Given the description of an element on the screen output the (x, y) to click on. 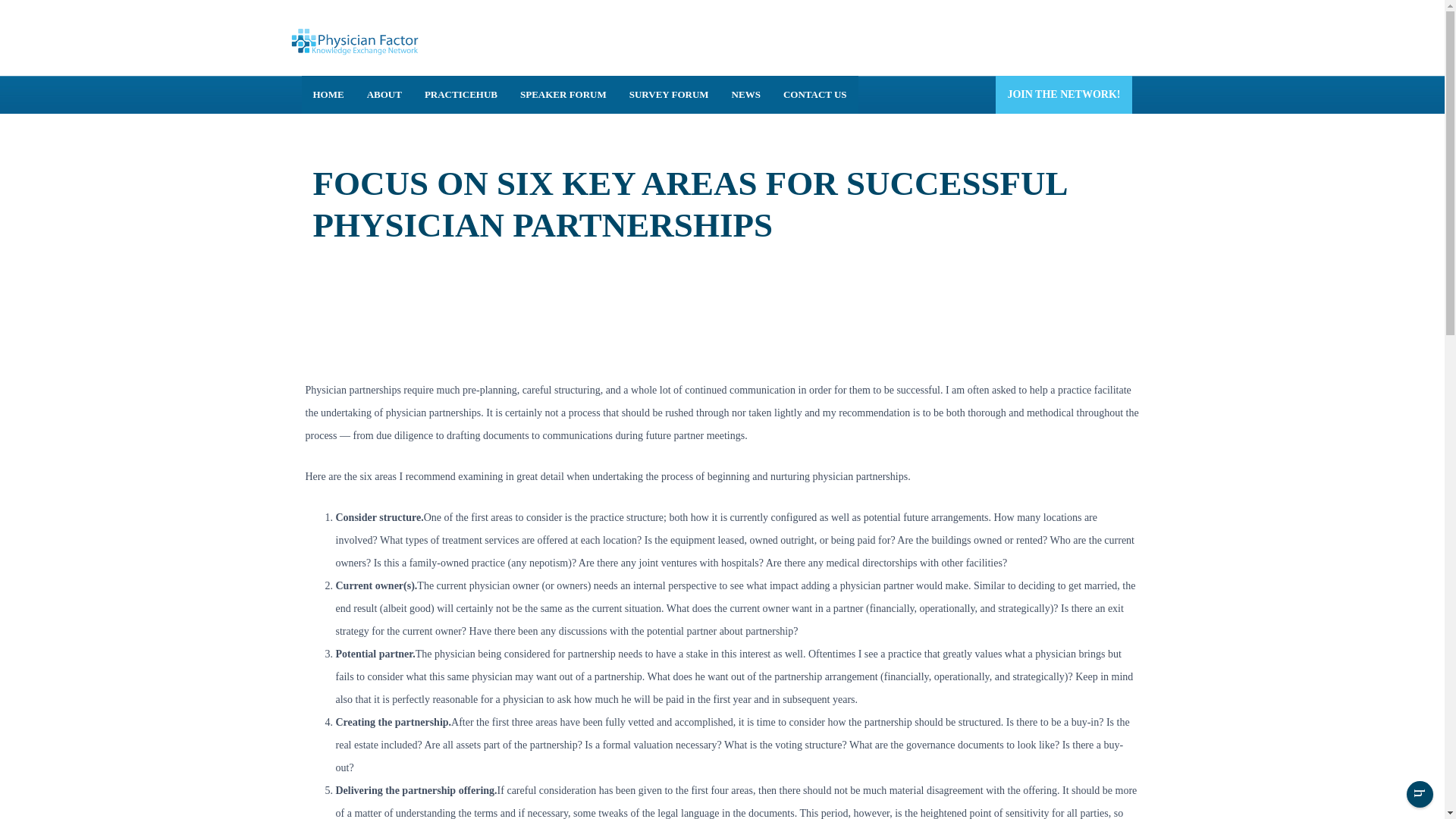
JOIN THE NETWORK! (1063, 94)
PRACTICEHUB (460, 94)
NEWS (745, 94)
ABOUT (384, 94)
CONTACT US (815, 94)
SPEAKER FORUM (562, 94)
SURVEY FORUM (668, 94)
HOME (328, 94)
